Given the description of an element on the screen output the (x, y) to click on. 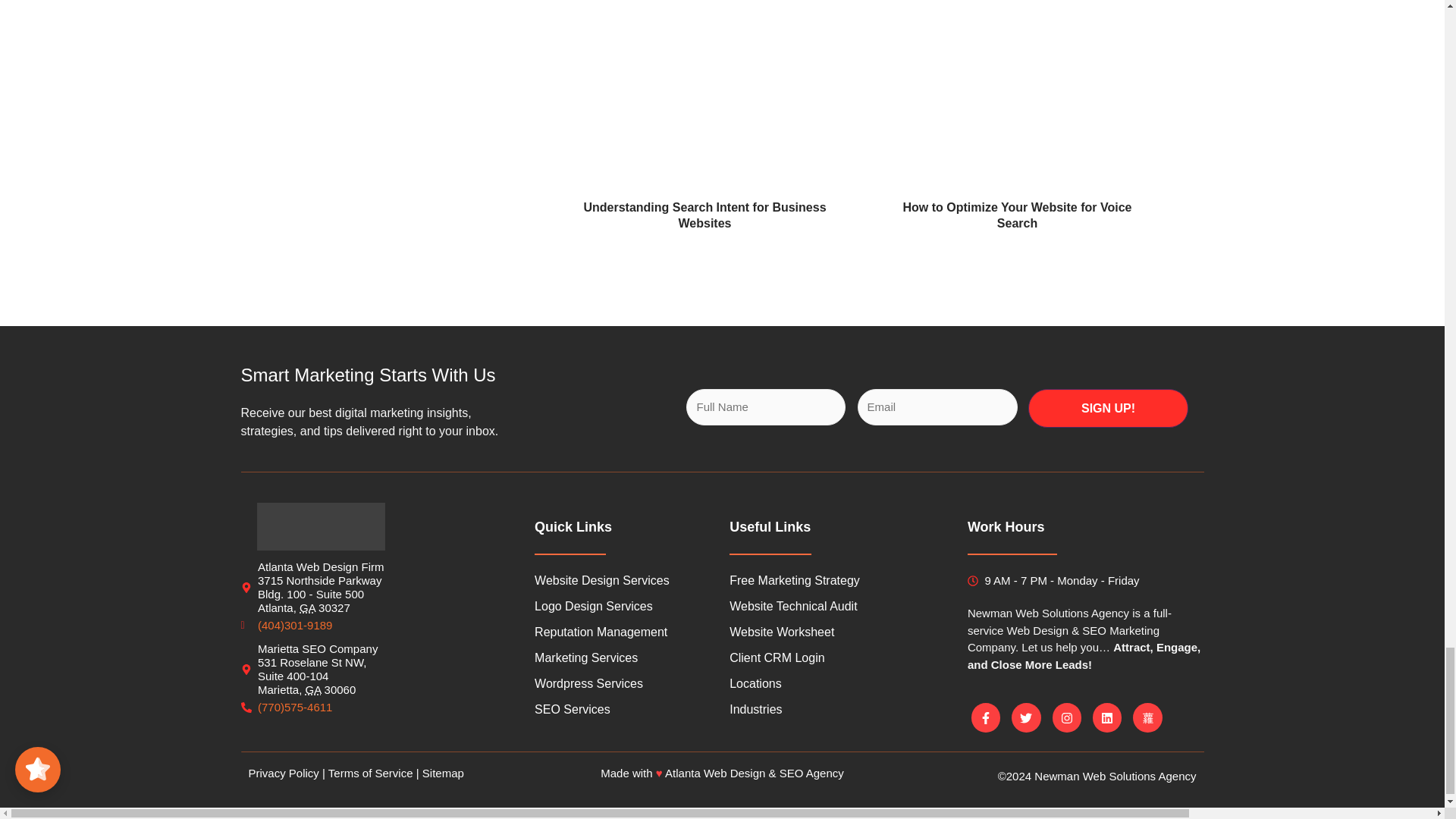
How to Optimize Your Website for Voice Search 5 (1016, 89)
Understanding Search Intent for Business Websites 4 (703, 95)
Georgia (307, 607)
Sign Up! (1108, 408)
Georgia (313, 689)
